Given the description of an element on the screen output the (x, y) to click on. 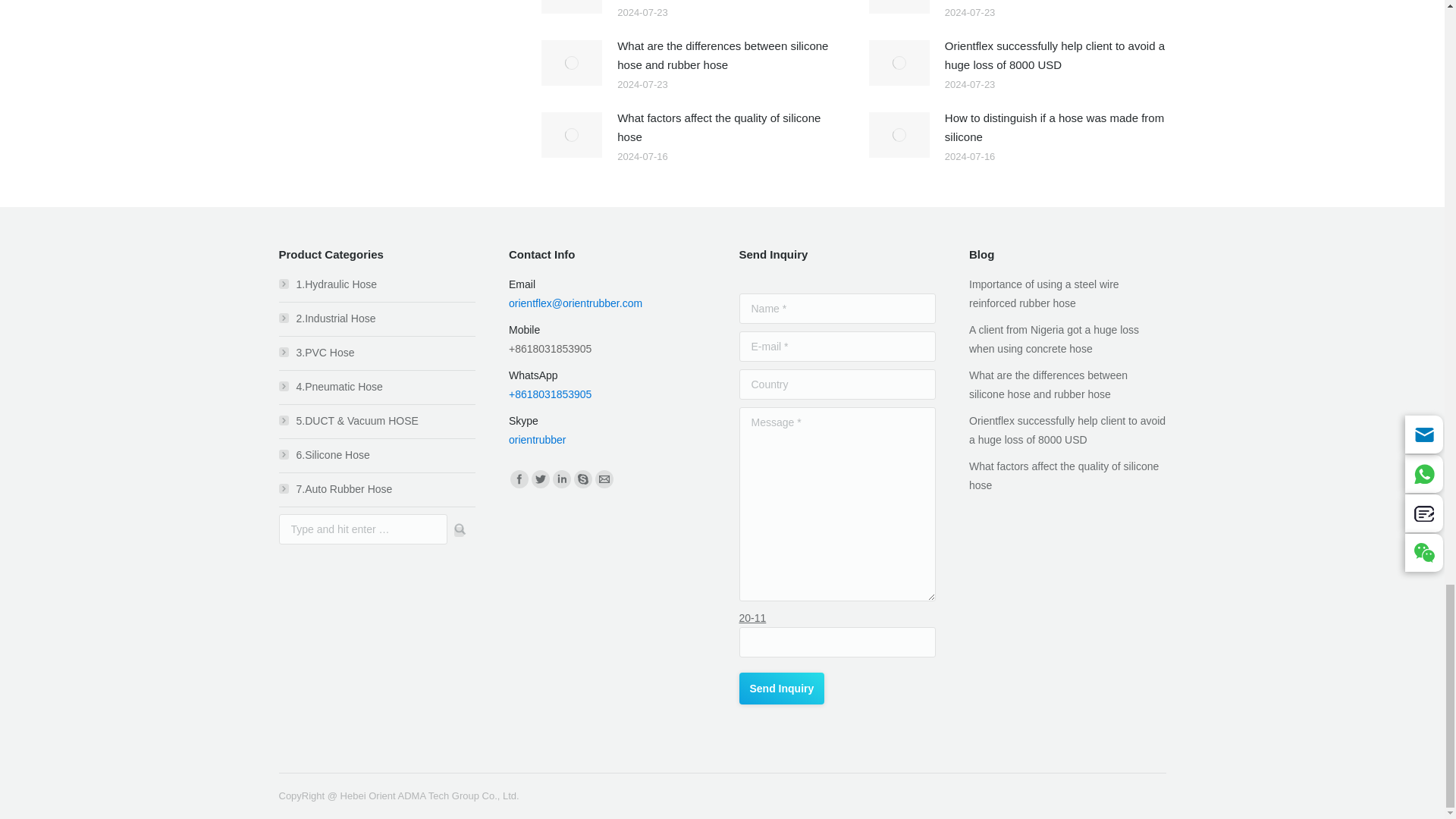
Skype (582, 479)
Go! (454, 529)
Facebook (519, 479)
Linkedin (561, 479)
Twitter (540, 479)
Send Inquiry (781, 688)
Mail (603, 479)
Go! (454, 529)
